Given the description of an element on the screen output the (x, y) to click on. 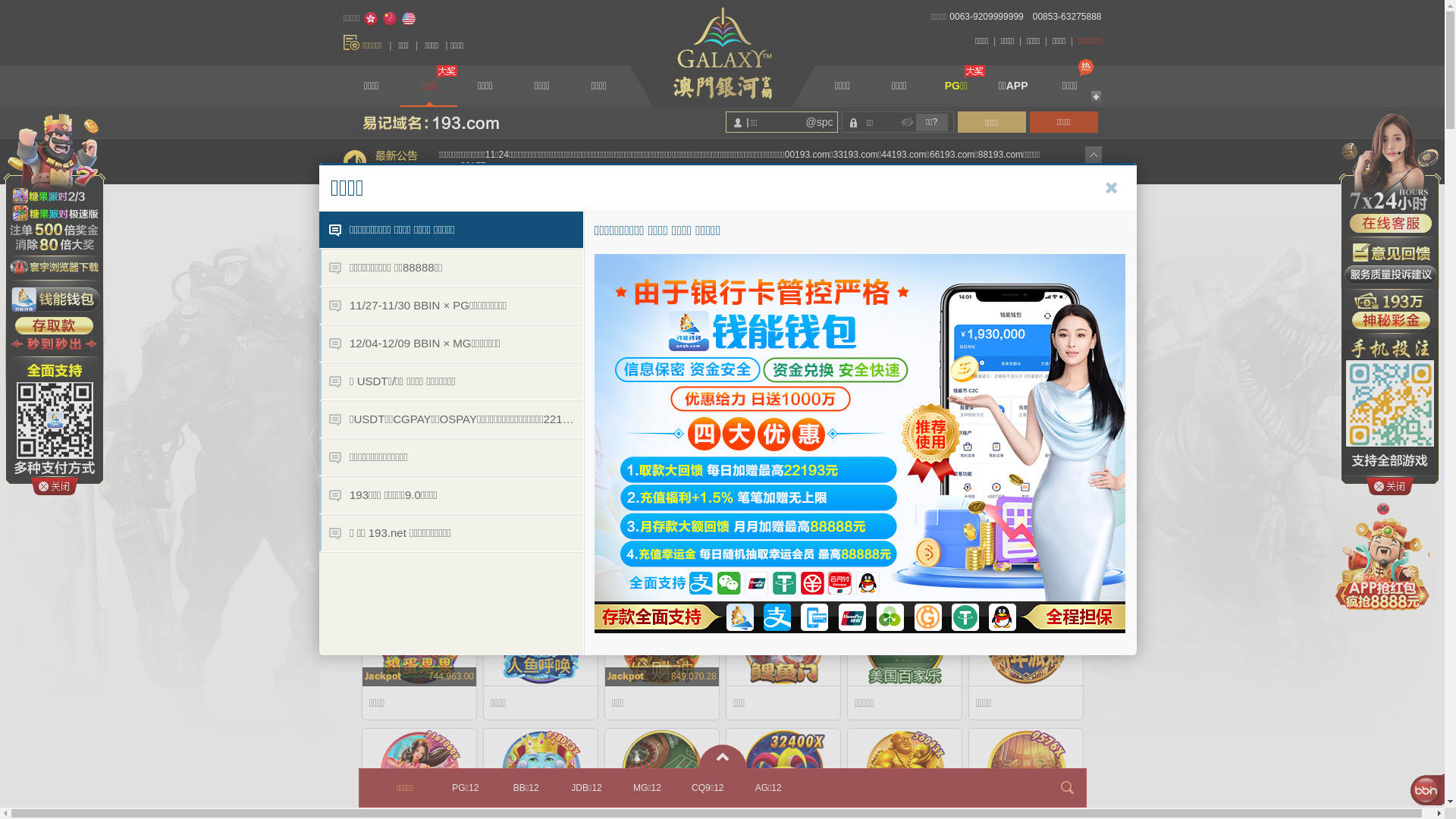
English Element type: hover (408, 18)
